Given the description of an element on the screen output the (x, y) to click on. 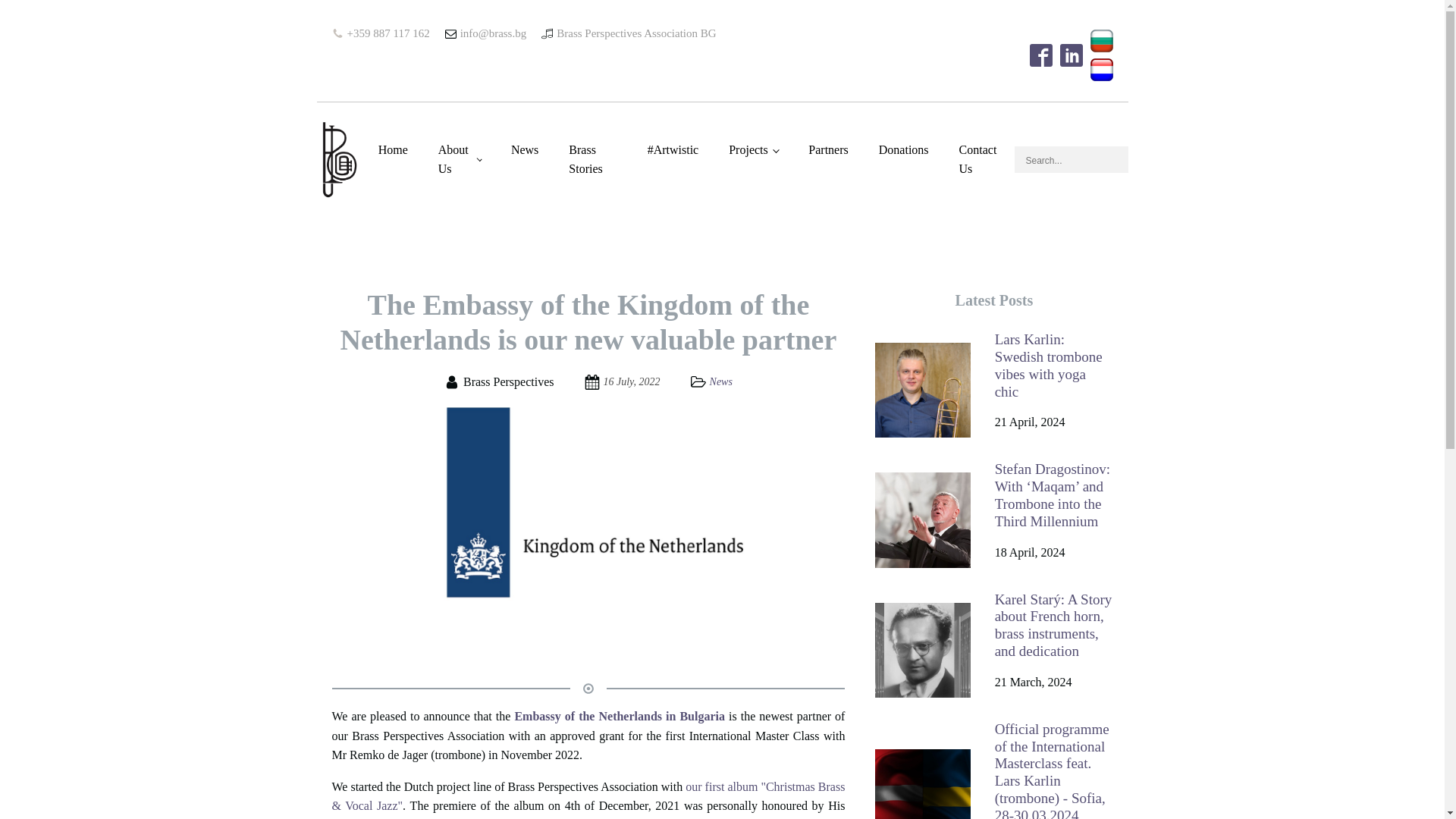
About Us (459, 159)
Donations (903, 150)
Partners (828, 150)
Brass Stories (592, 159)
Home (392, 150)
Embassy of the Netherlands in Bulgaria (621, 716)
Lars Karlin: Swedish trombone vibes with yoga chic  (1053, 365)
Projects (753, 150)
Contact Us (978, 159)
News (721, 381)
News (524, 150)
